Given the description of an element on the screen output the (x, y) to click on. 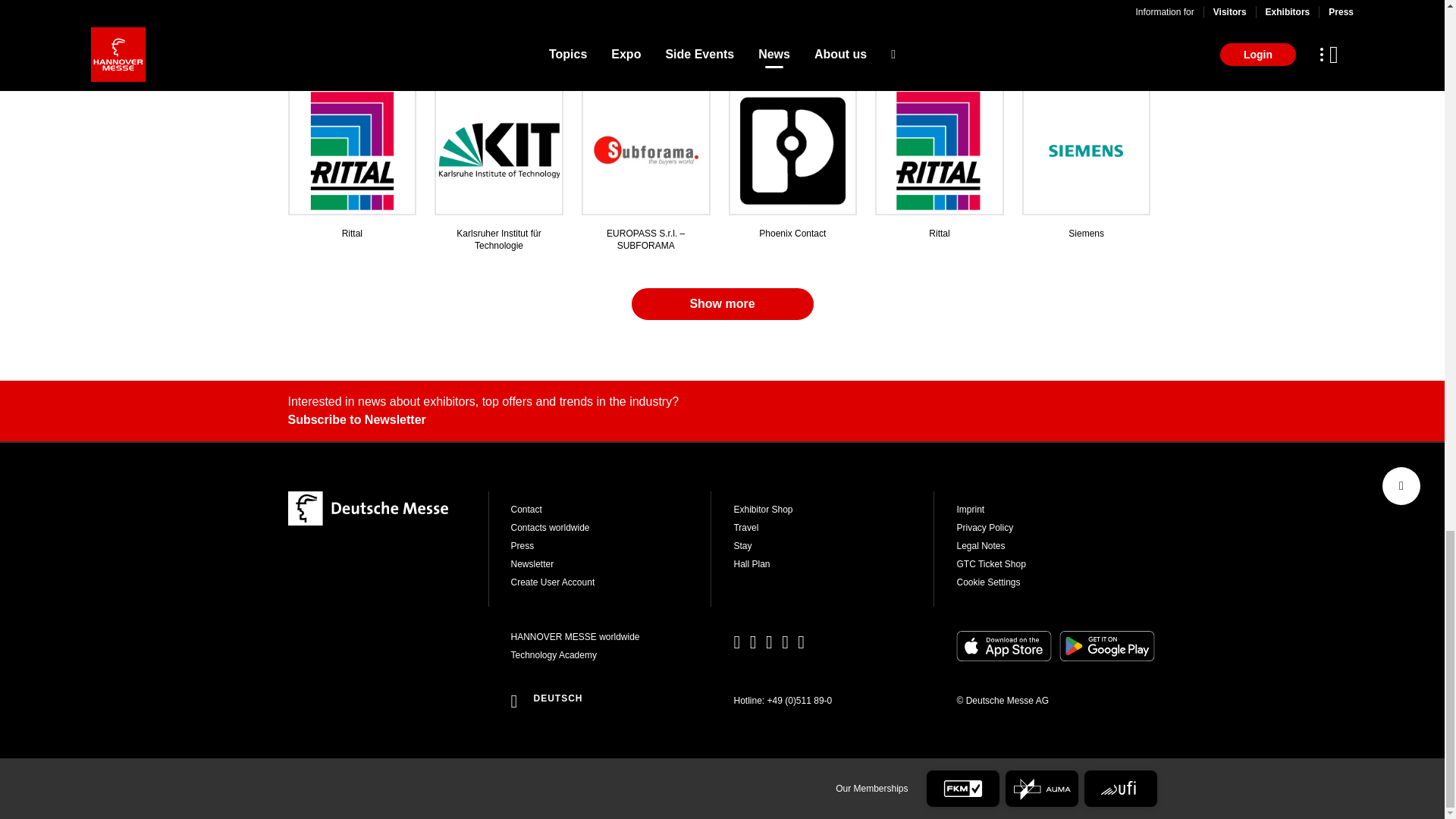
Stay (833, 545)
Travel (833, 527)
Show more (721, 304)
Newsletter (611, 563)
Exhibitor Shop (833, 509)
Subscribe to Newsletter (722, 420)
Press (611, 545)
Contact (611, 509)
Contacts worldwide (611, 527)
